Given the description of an element on the screen output the (x, y) to click on. 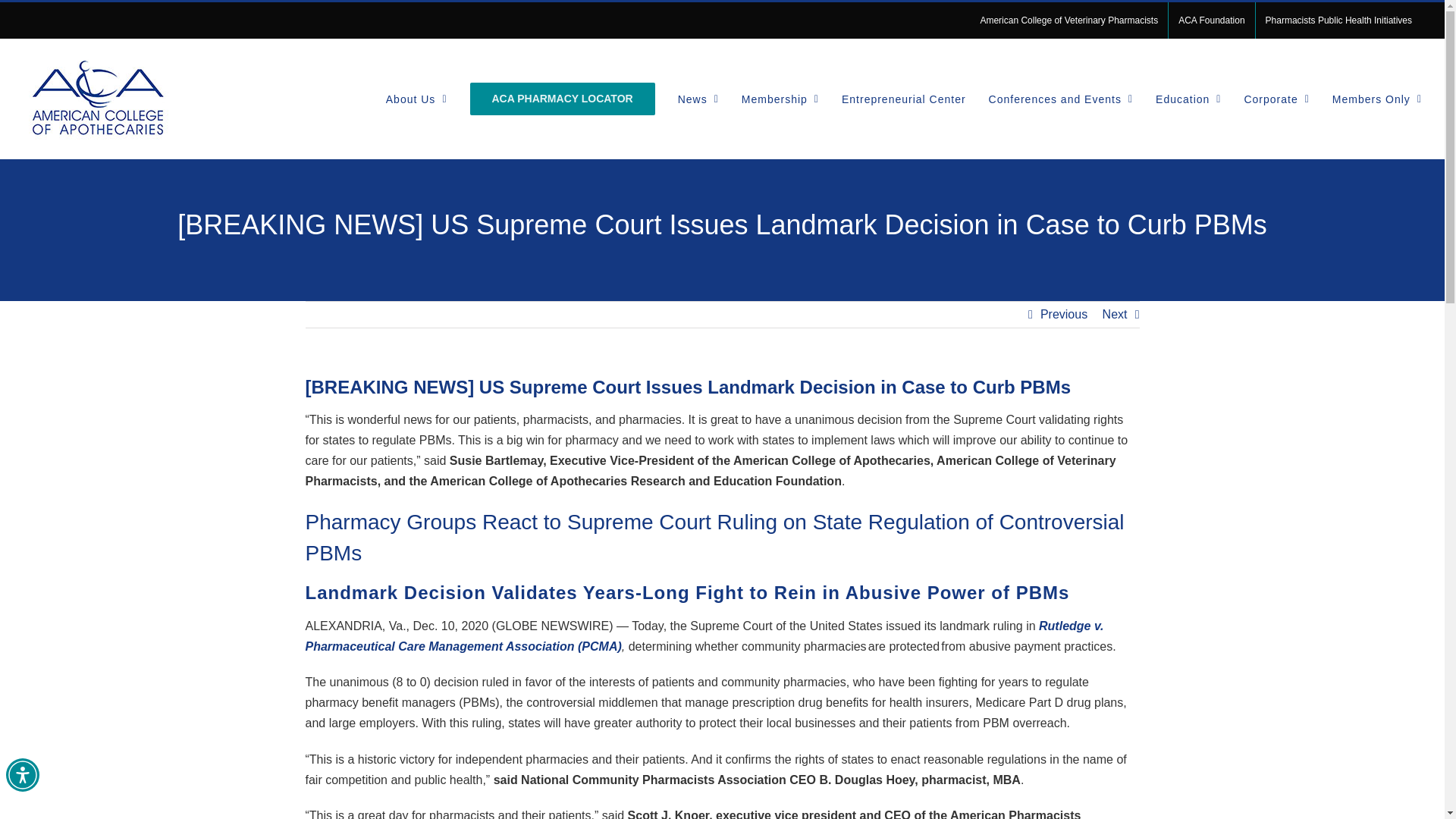
ACA PHARMACY LOCATOR (562, 98)
ACA Foundation (1211, 20)
American College of Veterinary Pharmacists (1068, 20)
Pharmacists Public Health Initiatives (1338, 20)
Accessibility Menu (22, 774)
